Given the description of an element on the screen output the (x, y) to click on. 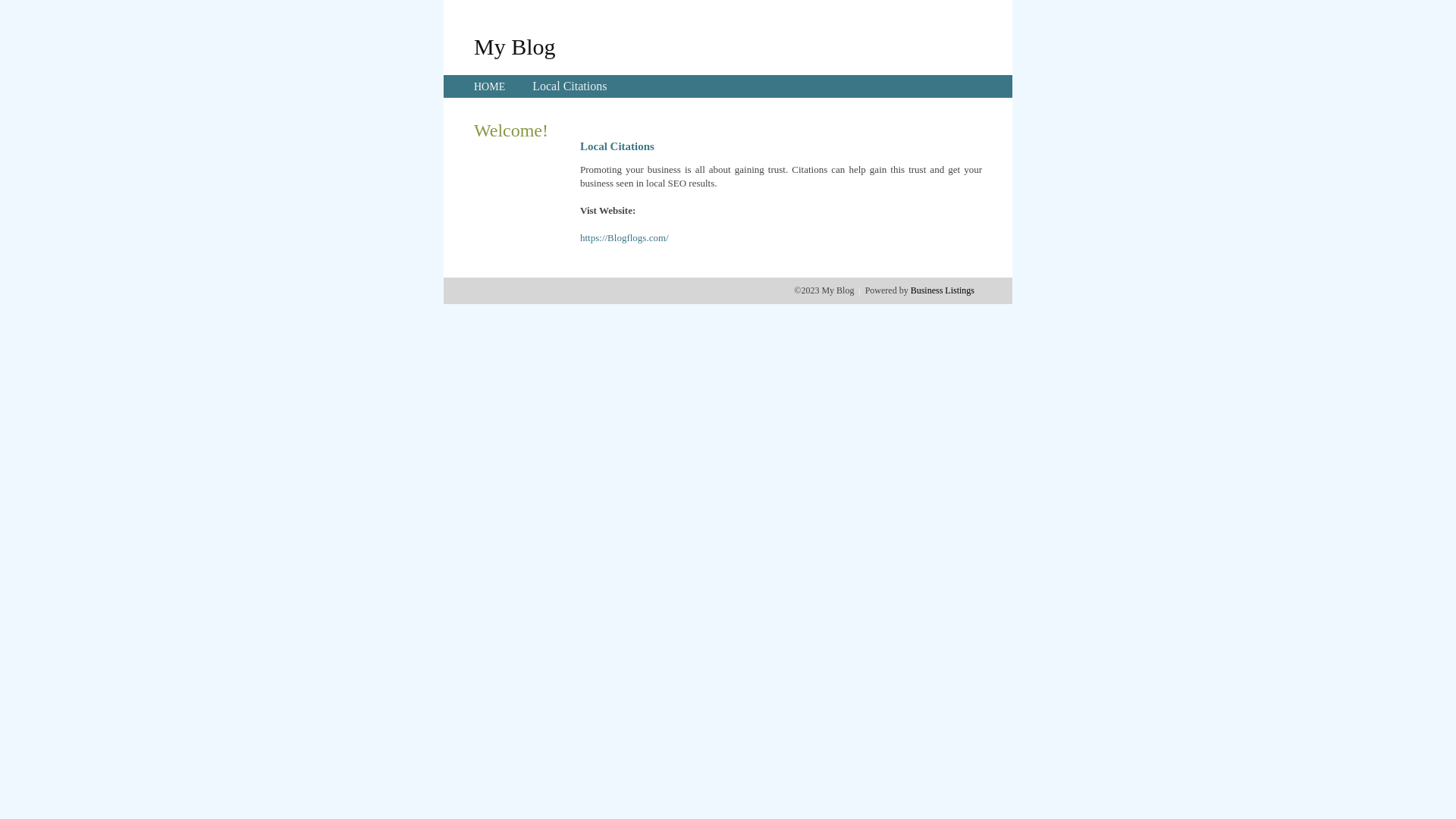
Local Citations Element type: text (569, 85)
HOME Element type: text (489, 86)
My Blog Element type: text (514, 46)
https://Blogflogs.com/ Element type: text (624, 237)
Business Listings Element type: text (942, 290)
